Given the description of an element on the screen output the (x, y) to click on. 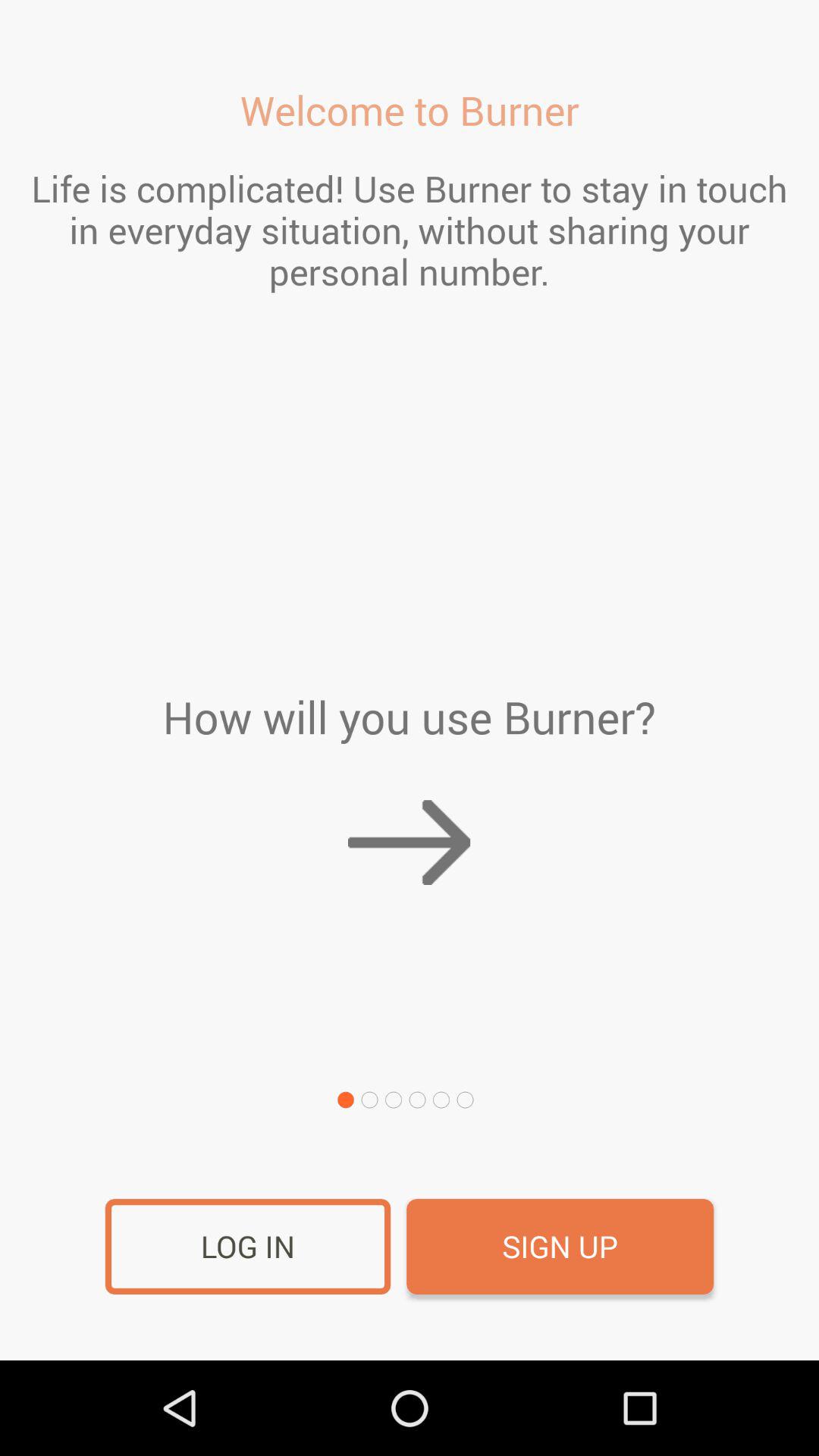
turn off icon at the bottom left corner (247, 1246)
